Given the description of an element on the screen output the (x, y) to click on. 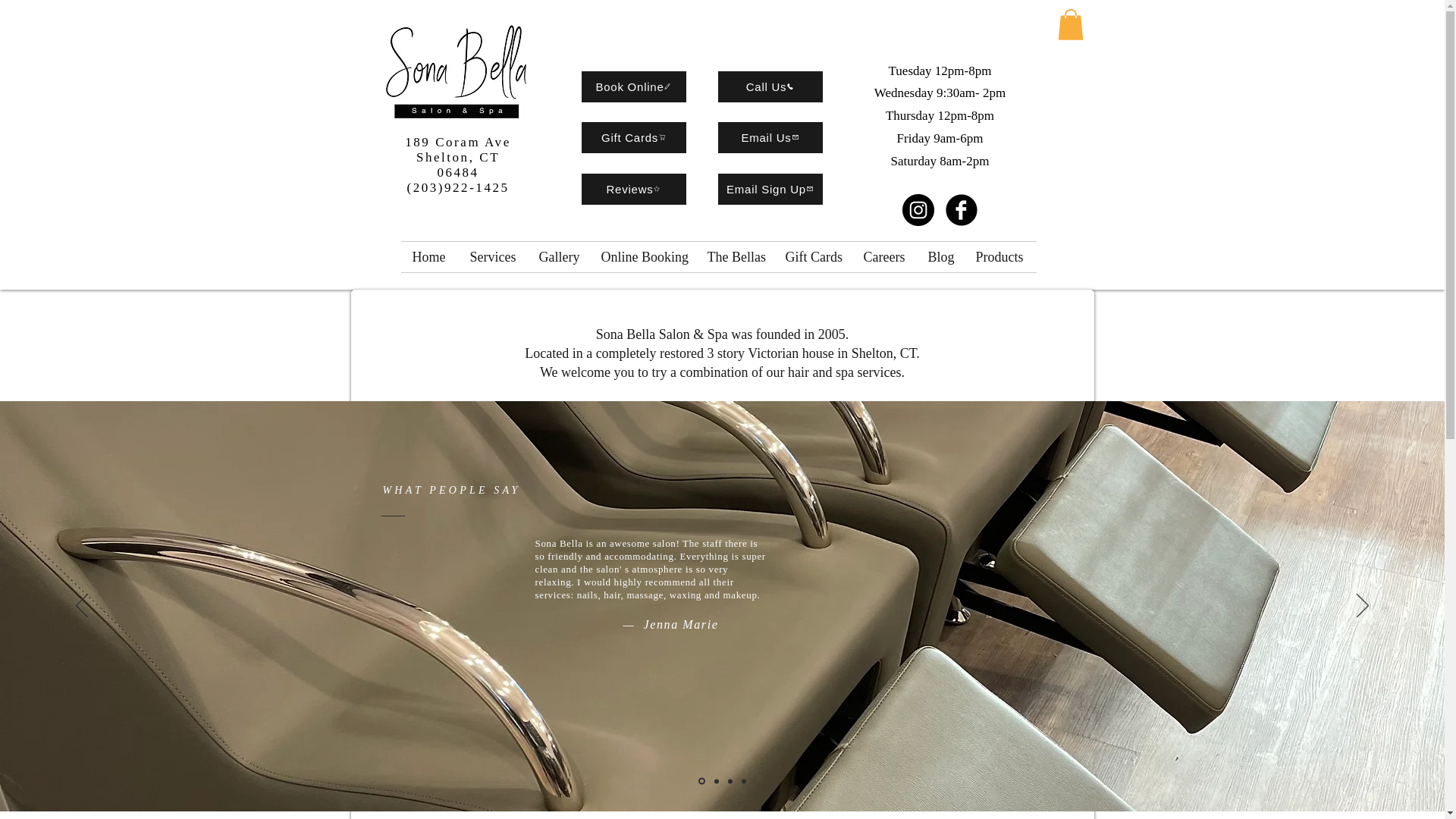
Careers (884, 256)
Book Online (632, 86)
Products (999, 256)
Services (492, 256)
Reviews (632, 188)
Home (429, 256)
Blog (939, 256)
Gift Cards (812, 256)
Gallery (558, 256)
Email Us (769, 137)
Online Booking (642, 256)
The Bellas (734, 256)
Email Sign Up (769, 188)
Gift Cards (632, 137)
Call Us (769, 86)
